Given the description of an element on the screen output the (x, y) to click on. 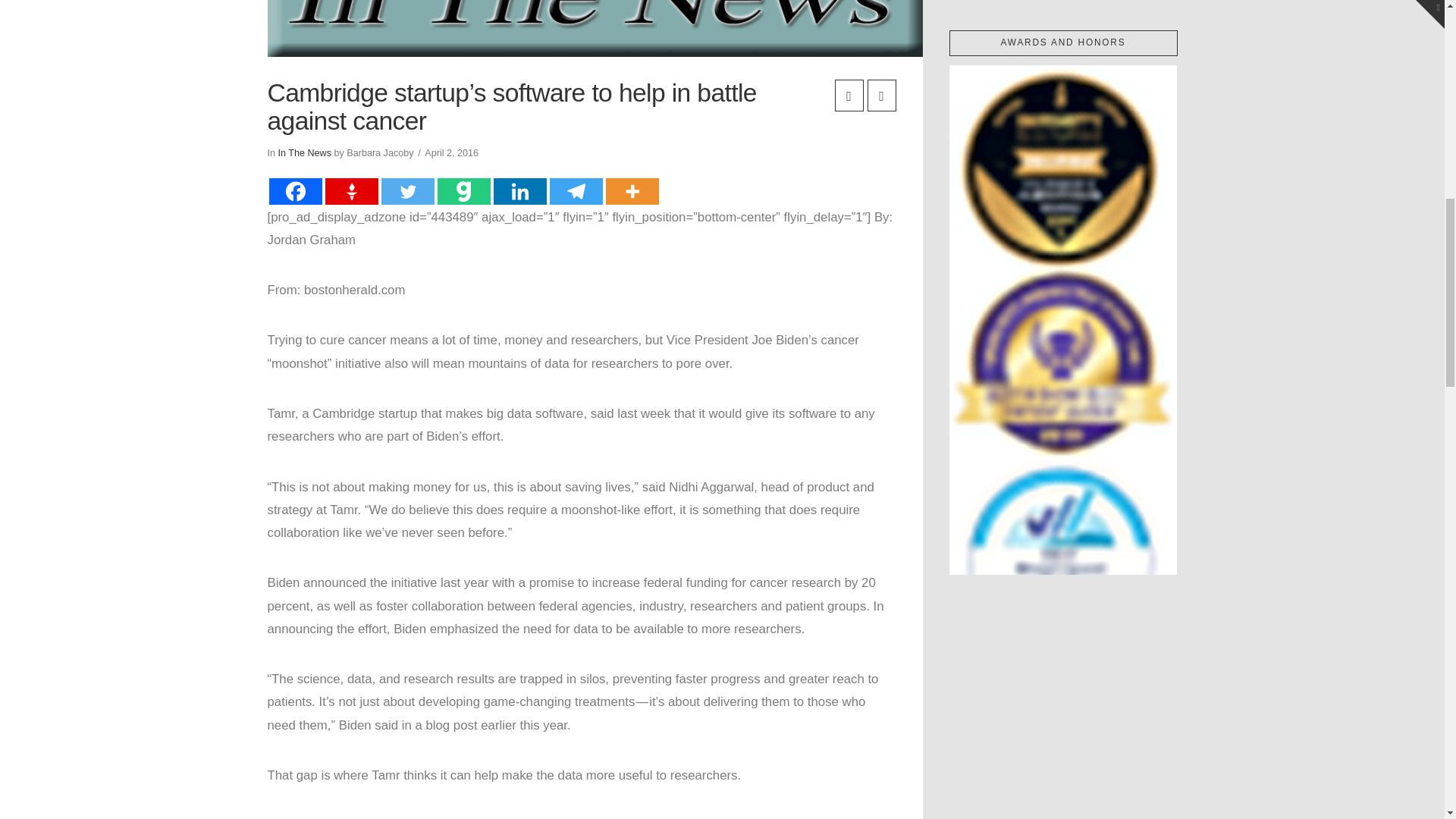
Linkedin (519, 191)
Gettr (350, 191)
In The News (304, 153)
Telegram (575, 191)
Facebook (294, 191)
Gab (462, 191)
Twitter (406, 191)
More (631, 191)
